Given the description of an element on the screen output the (x, y) to click on. 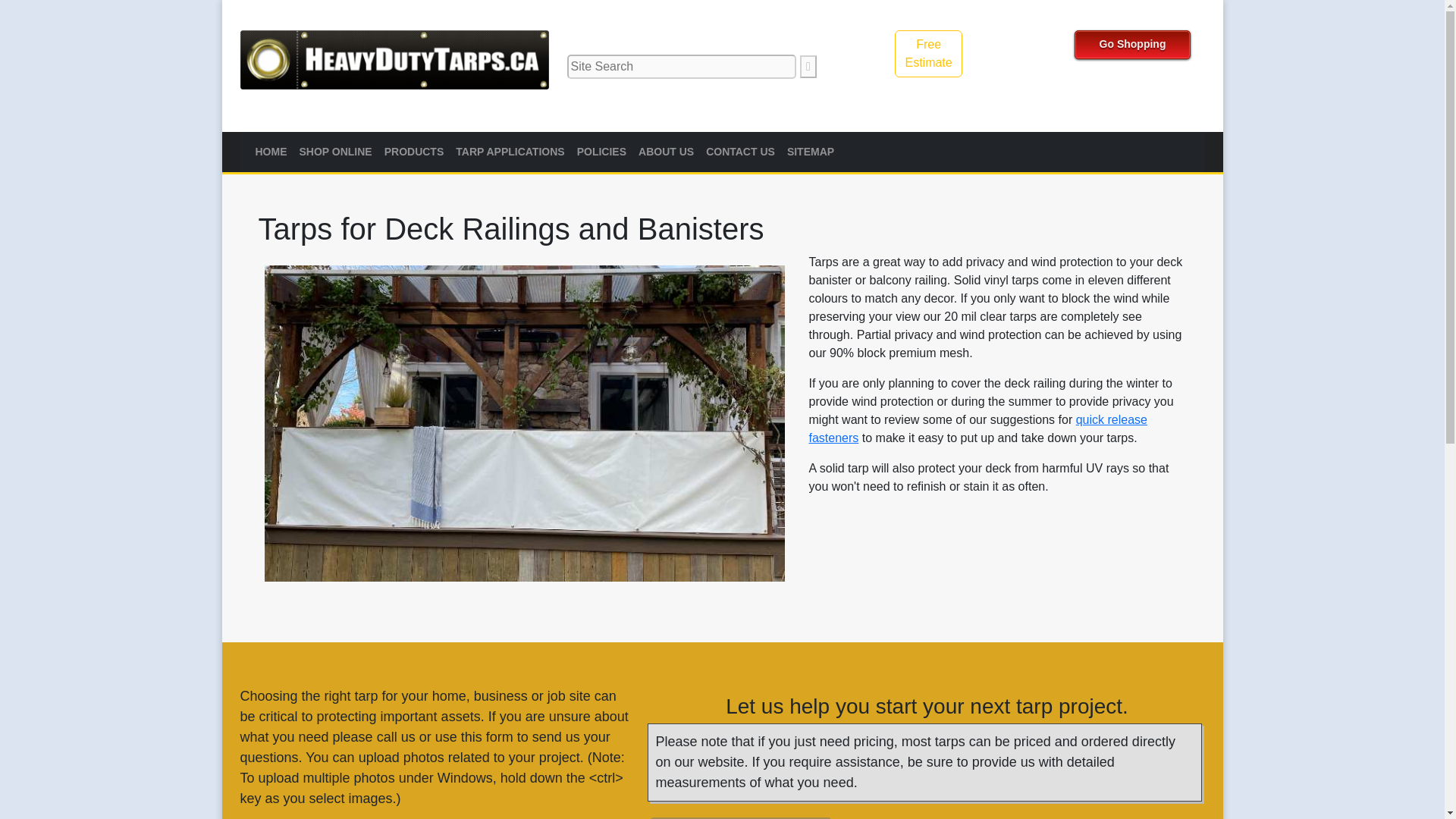
SITEMAP (810, 152)
POLICIES (927, 53)
PRODUCTS (600, 152)
Please enter your name here (413, 152)
ABOUT US (810, 152)
SHOP ONLINE (665, 152)
HOME (334, 152)
CONTACT US (270, 152)
